Given the description of an element on the screen output the (x, y) to click on. 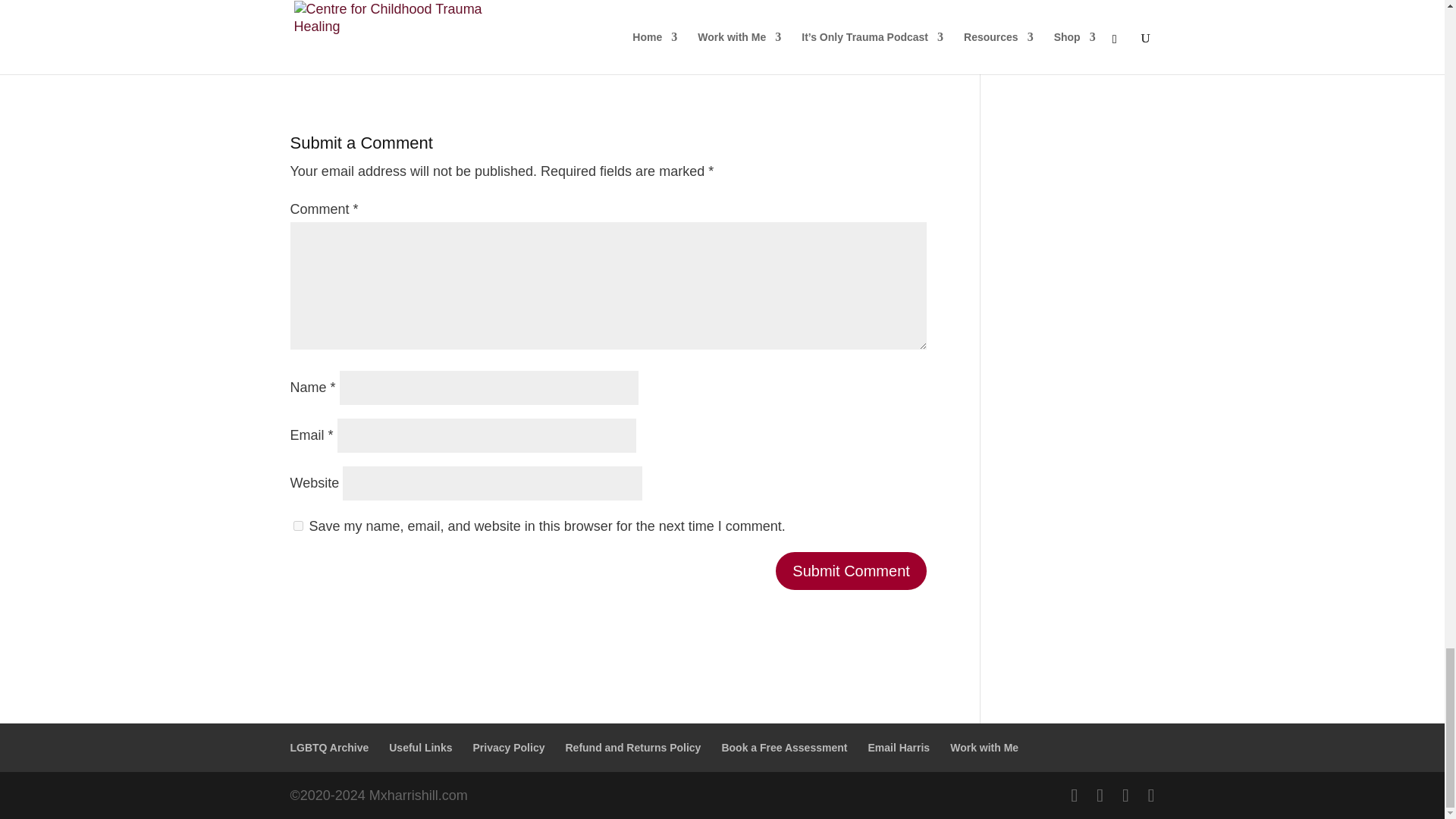
Submit Comment (851, 570)
LGBTQ Archive (328, 747)
Submit Comment (851, 570)
Privacy Policy (508, 747)
Useful Links (419, 747)
Refund and Returns Policy (632, 747)
yes (297, 525)
